Given the description of an element on the screen output the (x, y) to click on. 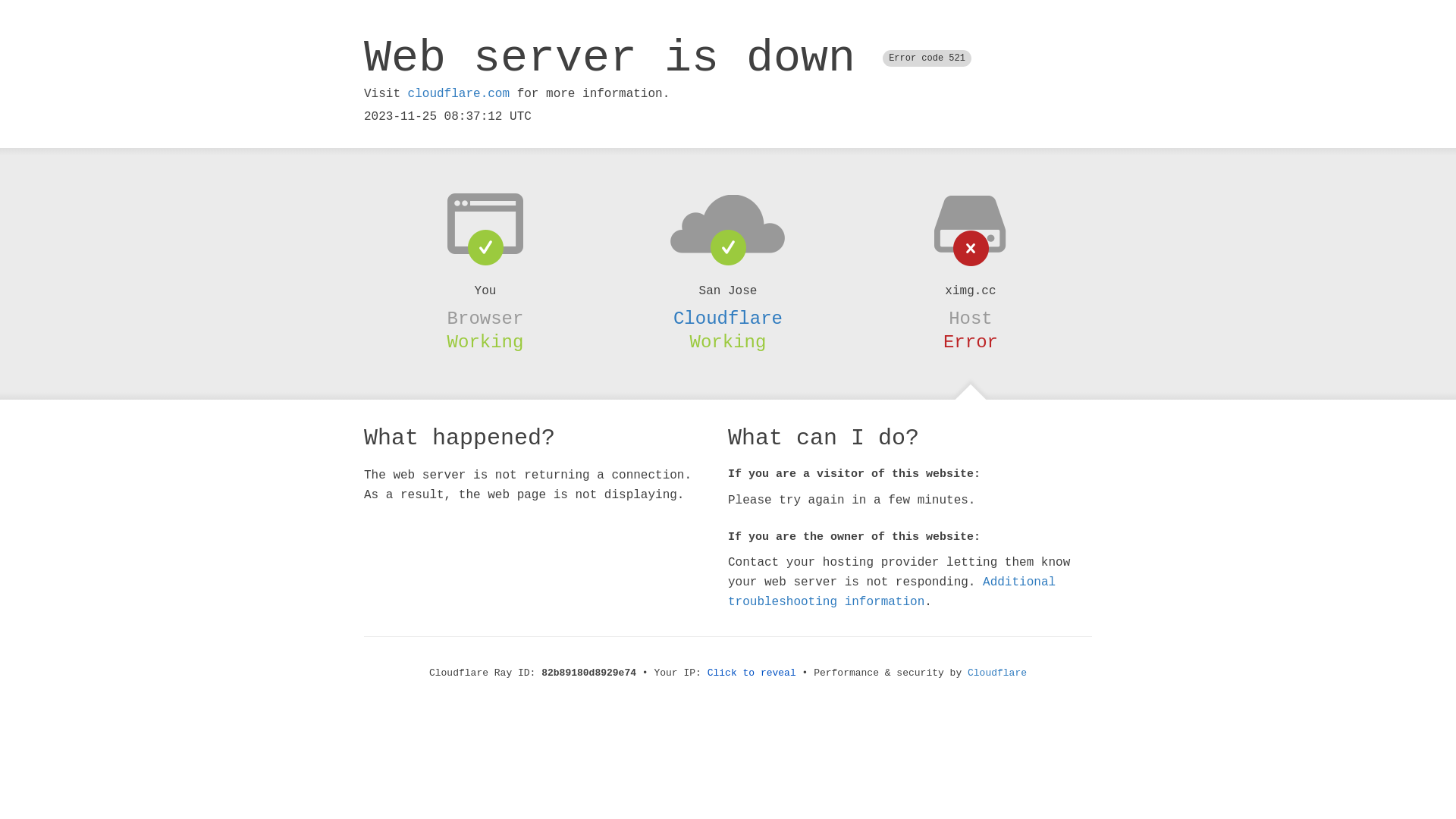
Click to reveal Element type: text (751, 672)
cloudflare.com Element type: text (458, 93)
Cloudflare Element type: text (996, 672)
Additional troubleshooting information Element type: text (891, 591)
Cloudflare Element type: text (727, 318)
